Given the description of an element on the screen output the (x, y) to click on. 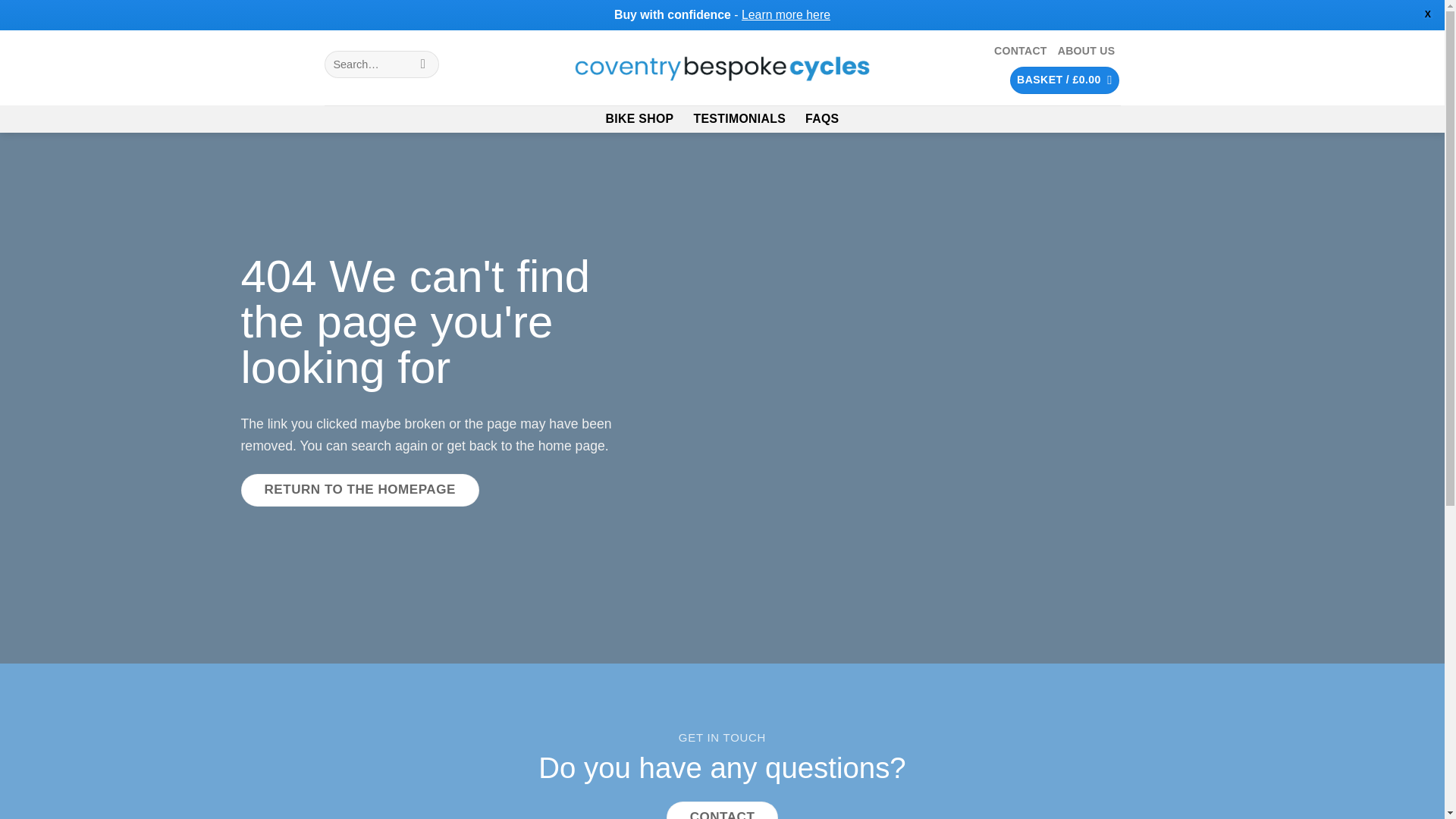
Search (422, 64)
TESTIMONIALS (739, 118)
Basket (1064, 80)
RETURN TO THE HOMEPAGE (360, 490)
Learn more here (785, 14)
FAQS (821, 118)
ABOUT US (1086, 51)
BIKE SHOP (639, 118)
CONTACT (1020, 51)
Coventry Bespoke Cycles - Pre-Owned High Performance Bikes (721, 68)
CONTACT (722, 810)
home page (571, 445)
